Given the description of an element on the screen output the (x, y) to click on. 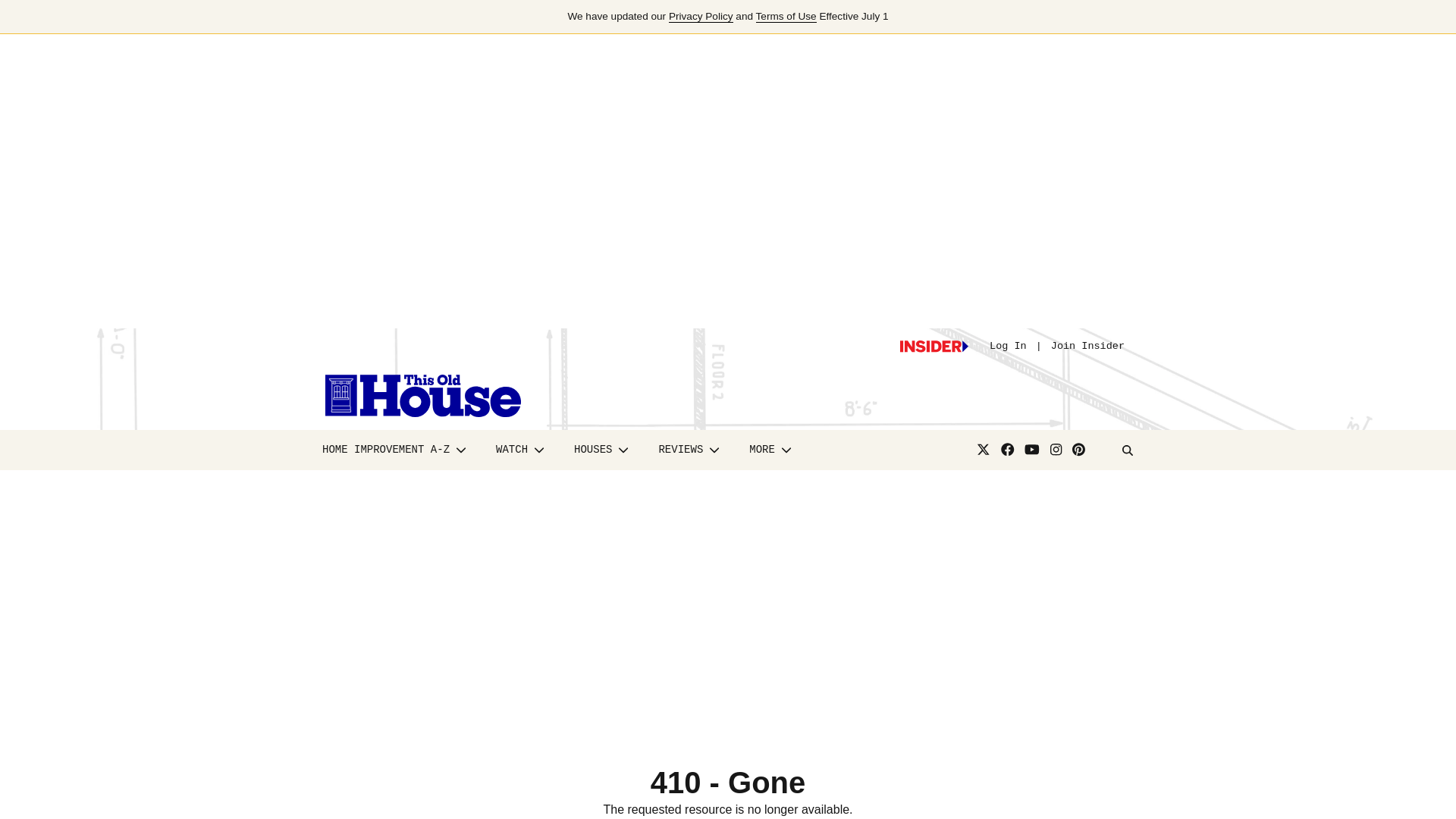
Join Insider (1087, 346)
Log In (1008, 346)
Privacy Policy (700, 16)
Log in or sign up (933, 346)
Terms of Use (785, 16)
